Given the description of an element on the screen output the (x, y) to click on. 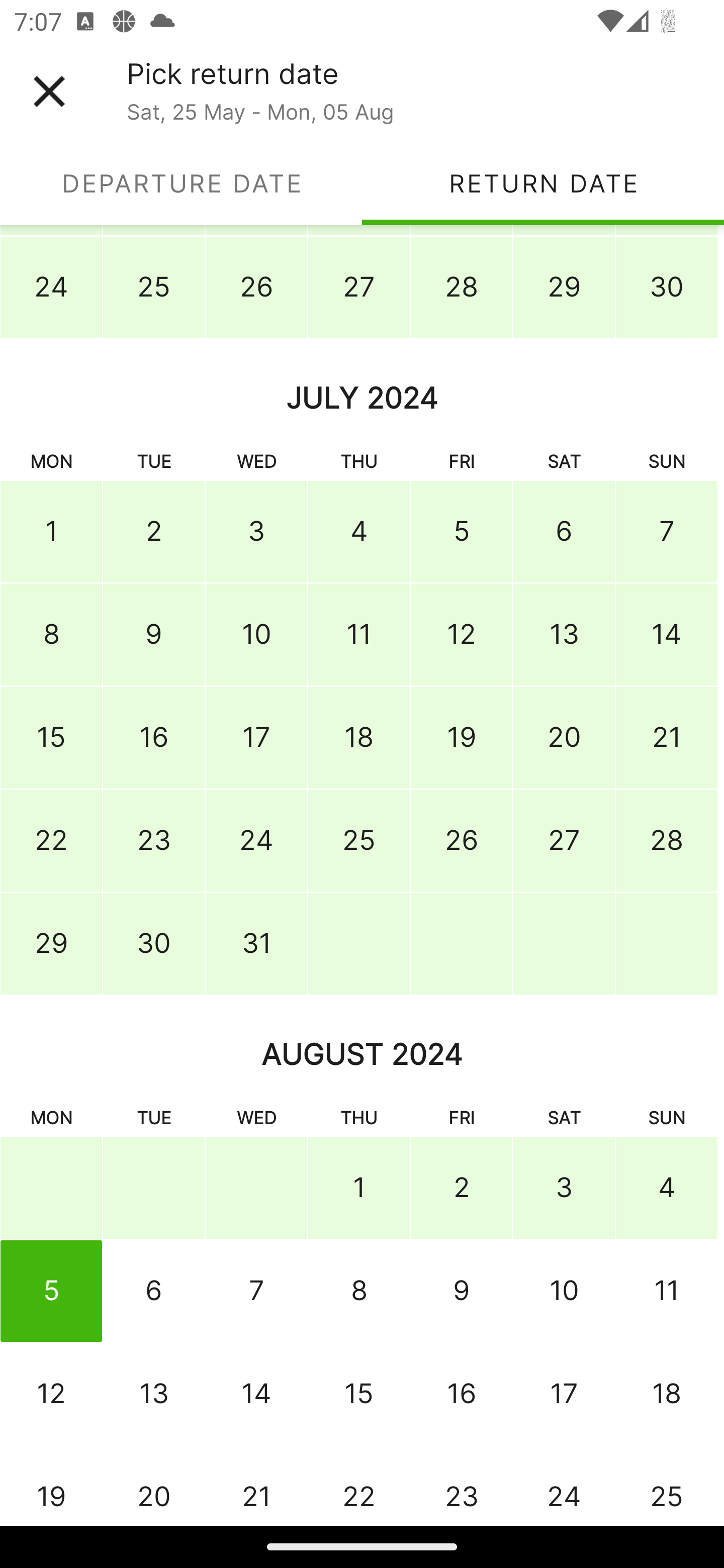
Departure Date DEPARTURE DATE (181, 183)
